Given the description of an element on the screen output the (x, y) to click on. 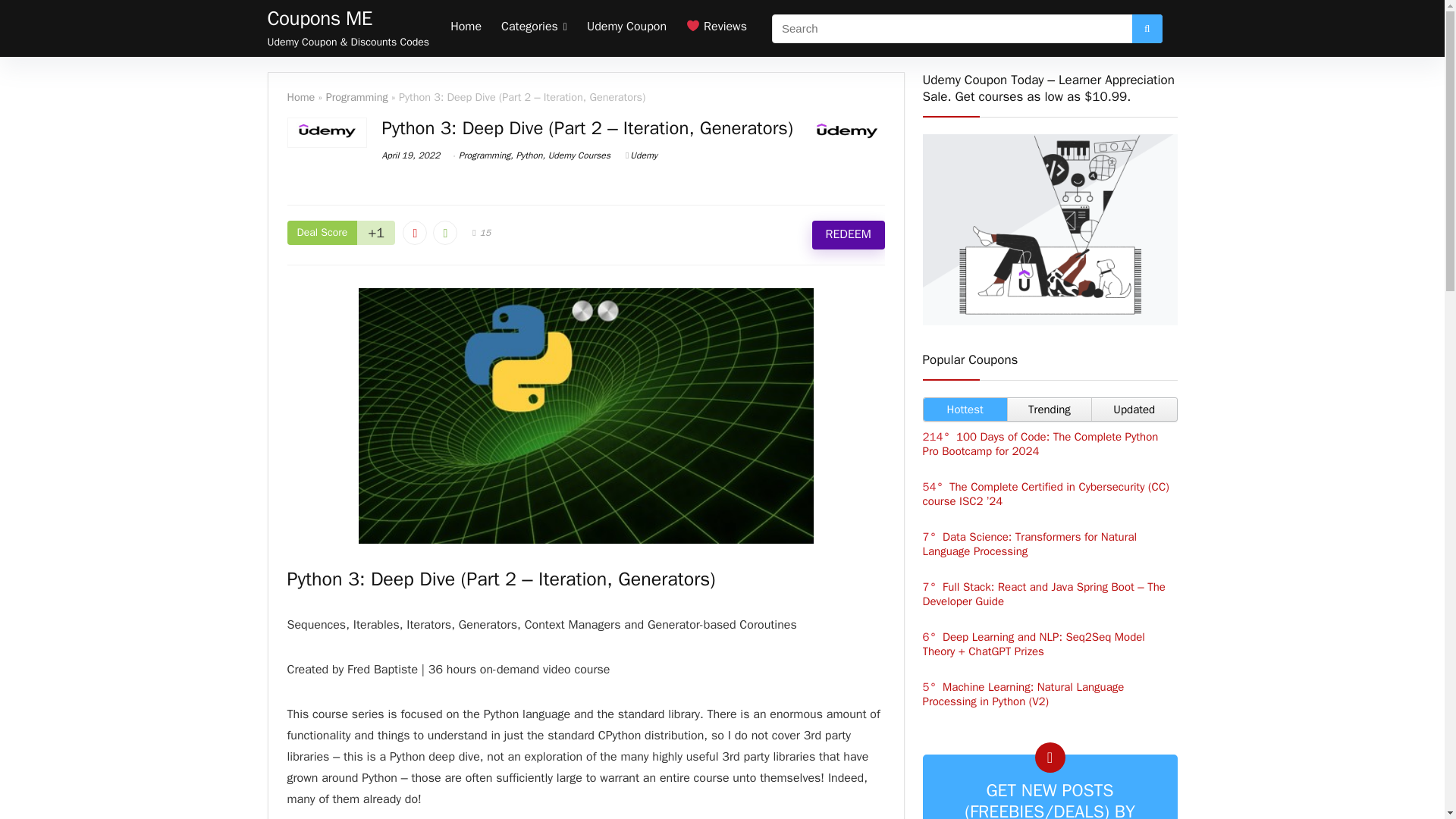
Vote up (444, 232)
Vote down (414, 232)
View all posts in Udemy Courses (579, 155)
Udemy Courses (579, 155)
Python (528, 155)
Programming (357, 97)
Udemy Coupon (626, 27)
Home (300, 97)
Home (466, 27)
View all posts in Programming (484, 155)
View all posts in Python (528, 155)
Categories (534, 27)
Reviews (717, 27)
Programming (484, 155)
